Given the description of an element on the screen output the (x, y) to click on. 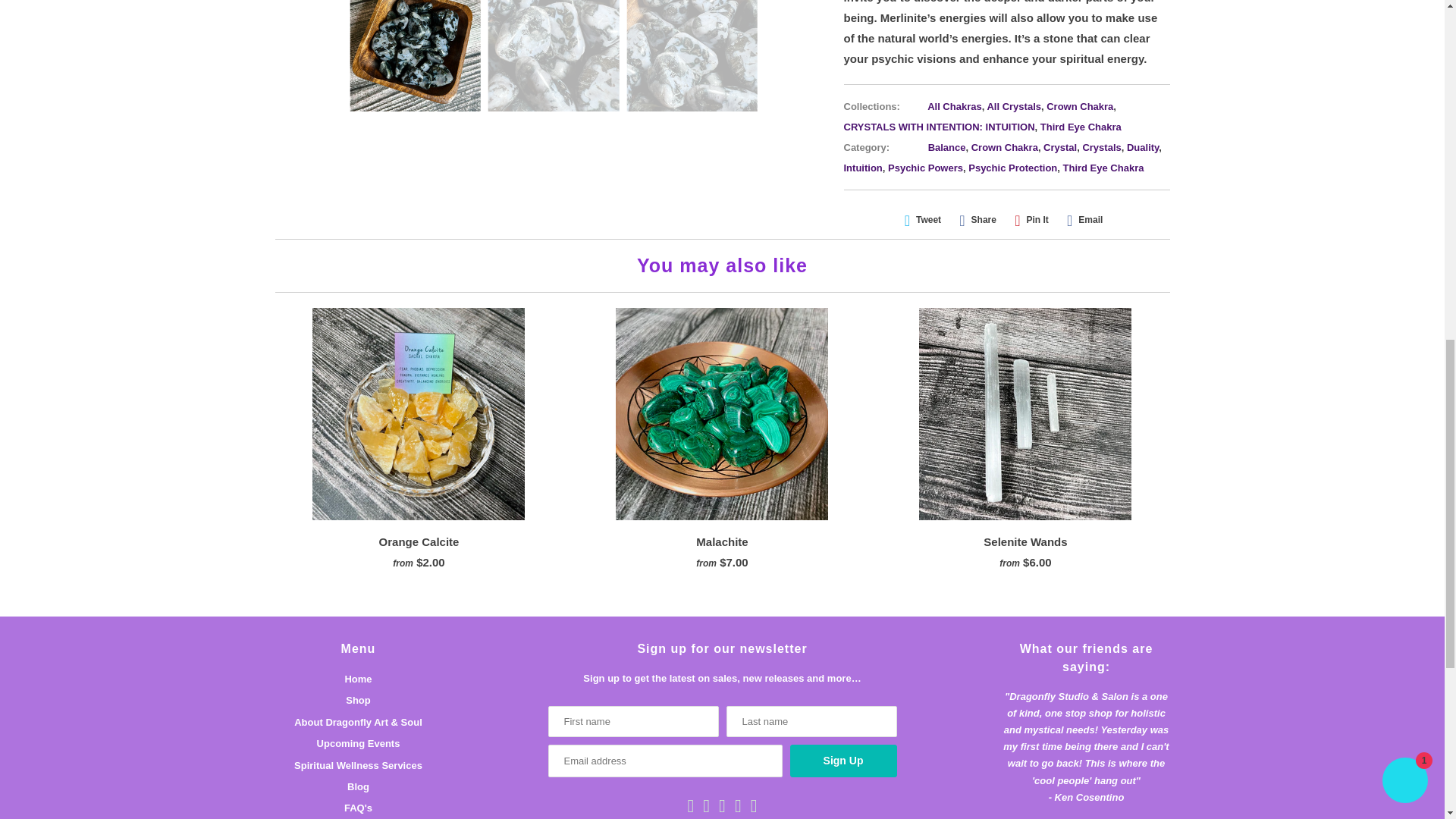
Products tagged Crystal (1060, 147)
Browse All Chakras (954, 106)
Products tagged Balance (947, 147)
Browse CRYSTALS WITH INTENTION: INTUITION (938, 126)
Products tagged Crystals (1101, 147)
Sign Up (843, 760)
Browse Crown Chakra (1079, 106)
Products tagged Crown Chakra (1004, 147)
Browse Third Eye Chakra (1081, 126)
Browse All Crystals (1014, 106)
